Given the description of an element on the screen output the (x, y) to click on. 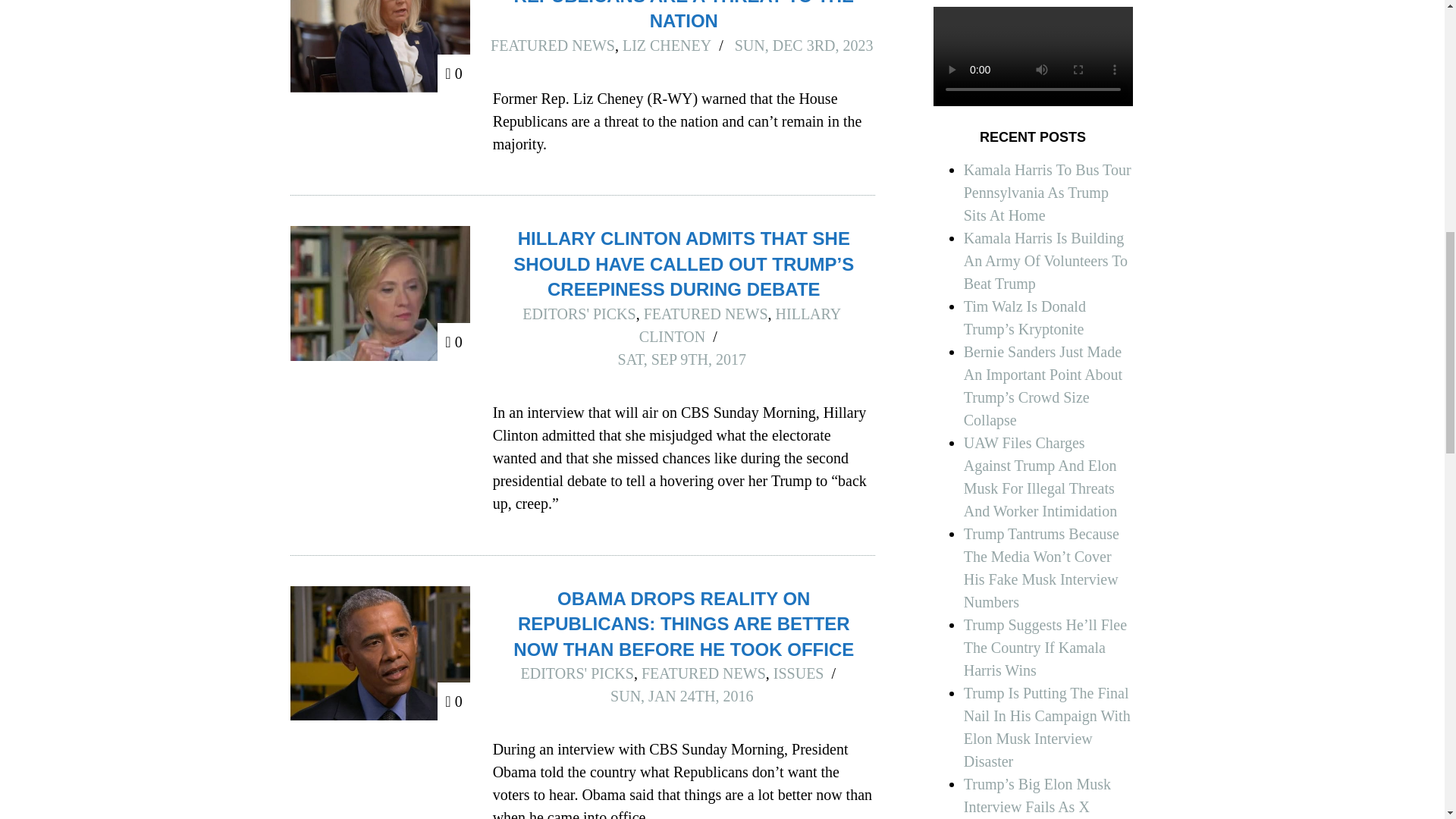
SUN, JAN 24TH, 2016 (681, 695)
LIZ CHENEY (667, 45)
FEATURED NEWS (552, 45)
EDITORS' PICKS (577, 673)
ISSUES (798, 673)
Kamala Harris To Bus Tour Pennsylvania As Trump Sits At Home (1047, 192)
LIZ CHENEY SAYS HOUSE REPUBLICANS ARE A THREAT TO THE NATION (683, 15)
SUN, DEC 3RD, 2023 (804, 45)
EDITORS' PICKS (578, 313)
